Given the description of an element on the screen output the (x, y) to click on. 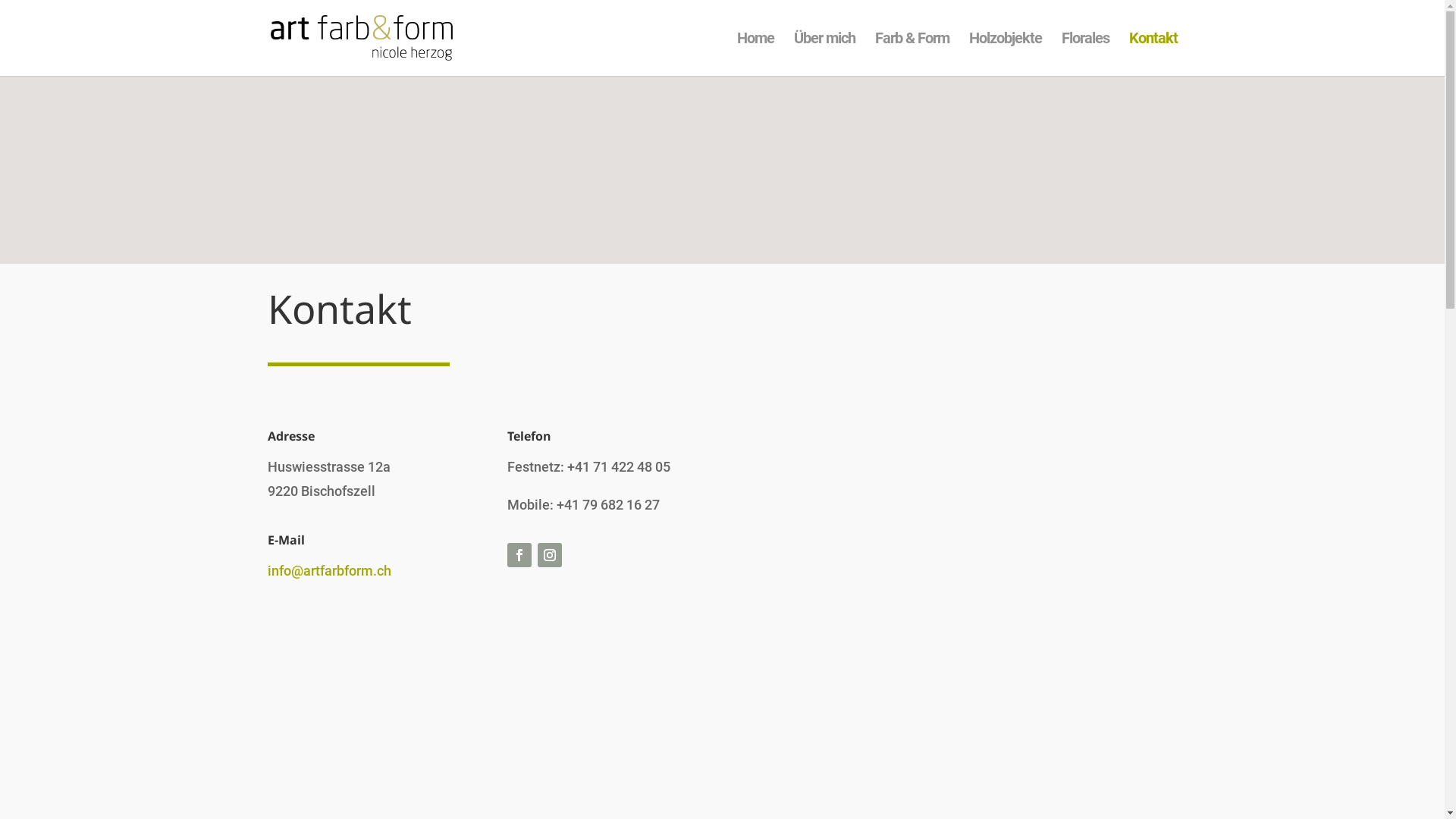
Folge auf Facebook Element type: hover (519, 554)
Holzobjekte Element type: text (1005, 53)
Kontakt Element type: text (1152, 53)
Folge auf Instagram Element type: hover (549, 554)
Florales Element type: text (1085, 53)
Farb & Form Element type: text (912, 53)
info@artfarbform.ch Element type: text (328, 570)
Home Element type: text (755, 53)
